Given the description of an element on the screen output the (x, y) to click on. 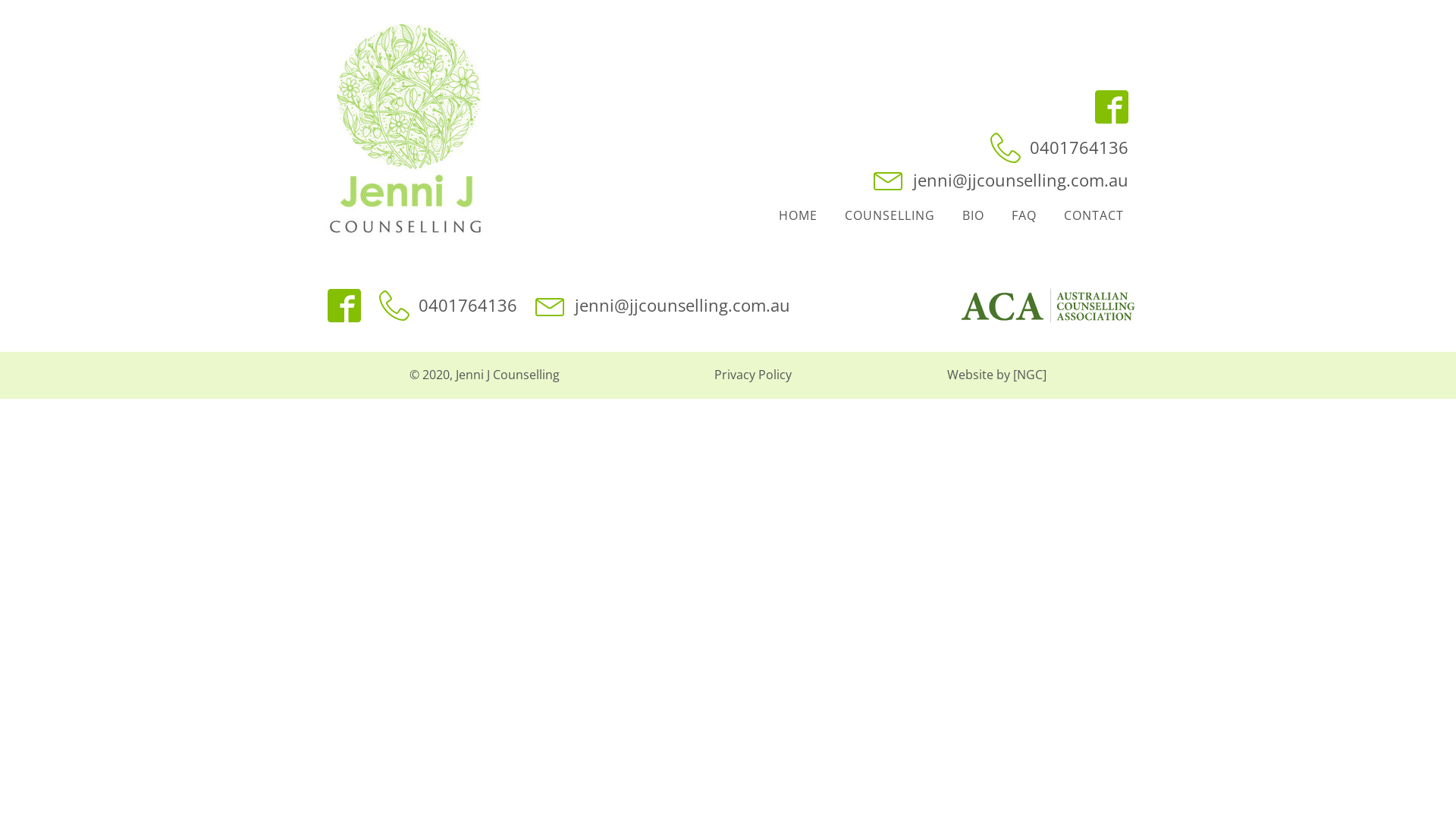
CONTACT Element type: text (1093, 216)
Website by [NGC] Element type: text (996, 375)
COUNSELLING Element type: text (889, 216)
Privacy Policy Element type: text (752, 375)
FAQ Element type: text (1023, 216)
jenni@jjcounselling.com.au Element type: text (1000, 180)
HOME Element type: text (798, 216)
0401764136 Element type: text (1059, 147)
BIO Element type: text (972, 216)
0401764136 Element type: text (448, 305)
jenni@jjcounselling.com.au Element type: text (662, 305)
